Given the description of an element on the screen output the (x, y) to click on. 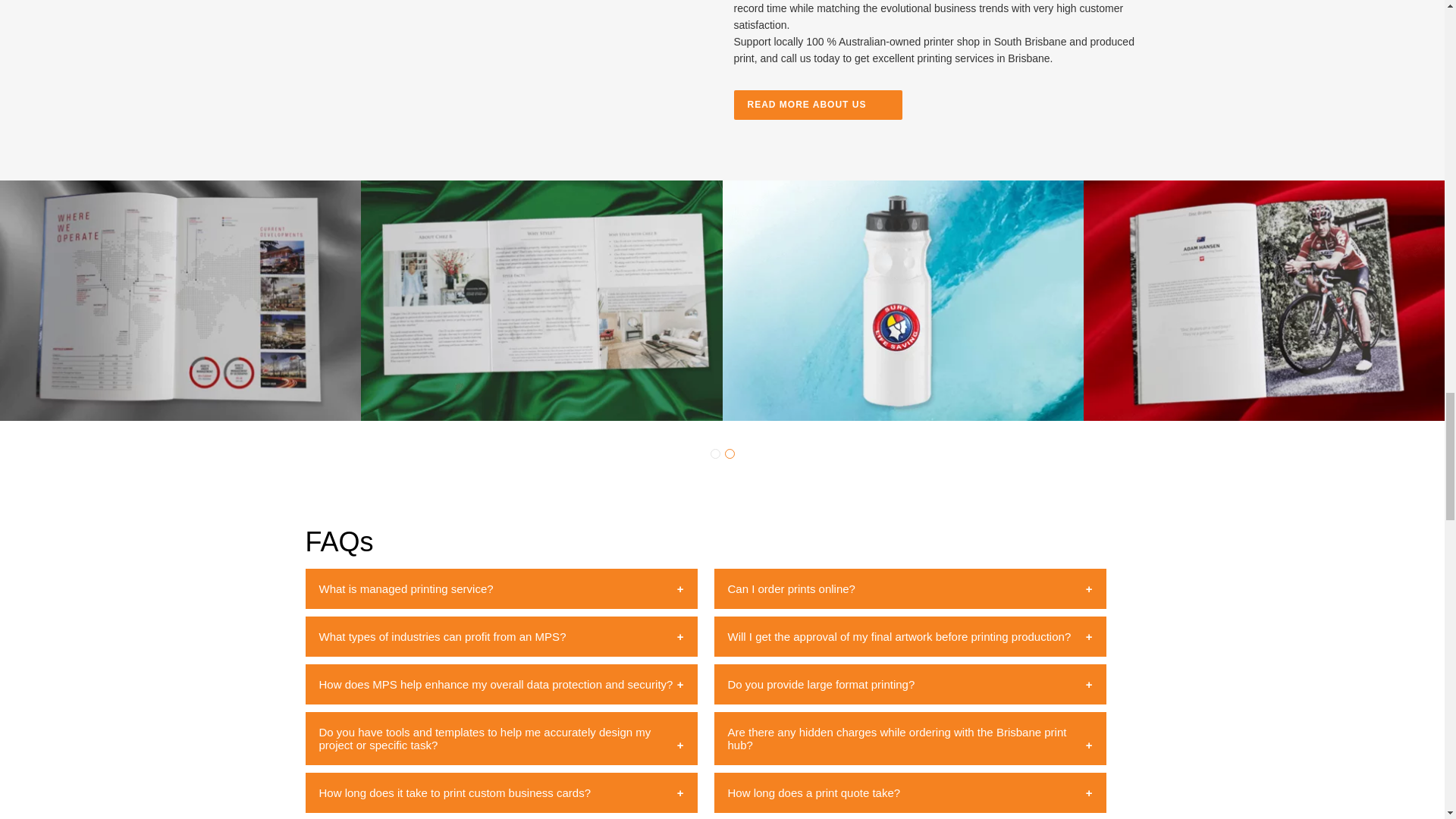
brochures printing in brisbane (541, 300)
Custom Promotional Gear Printing (902, 300)
catlogoues printing services (180, 300)
